Given the description of an element on the screen output the (x, y) to click on. 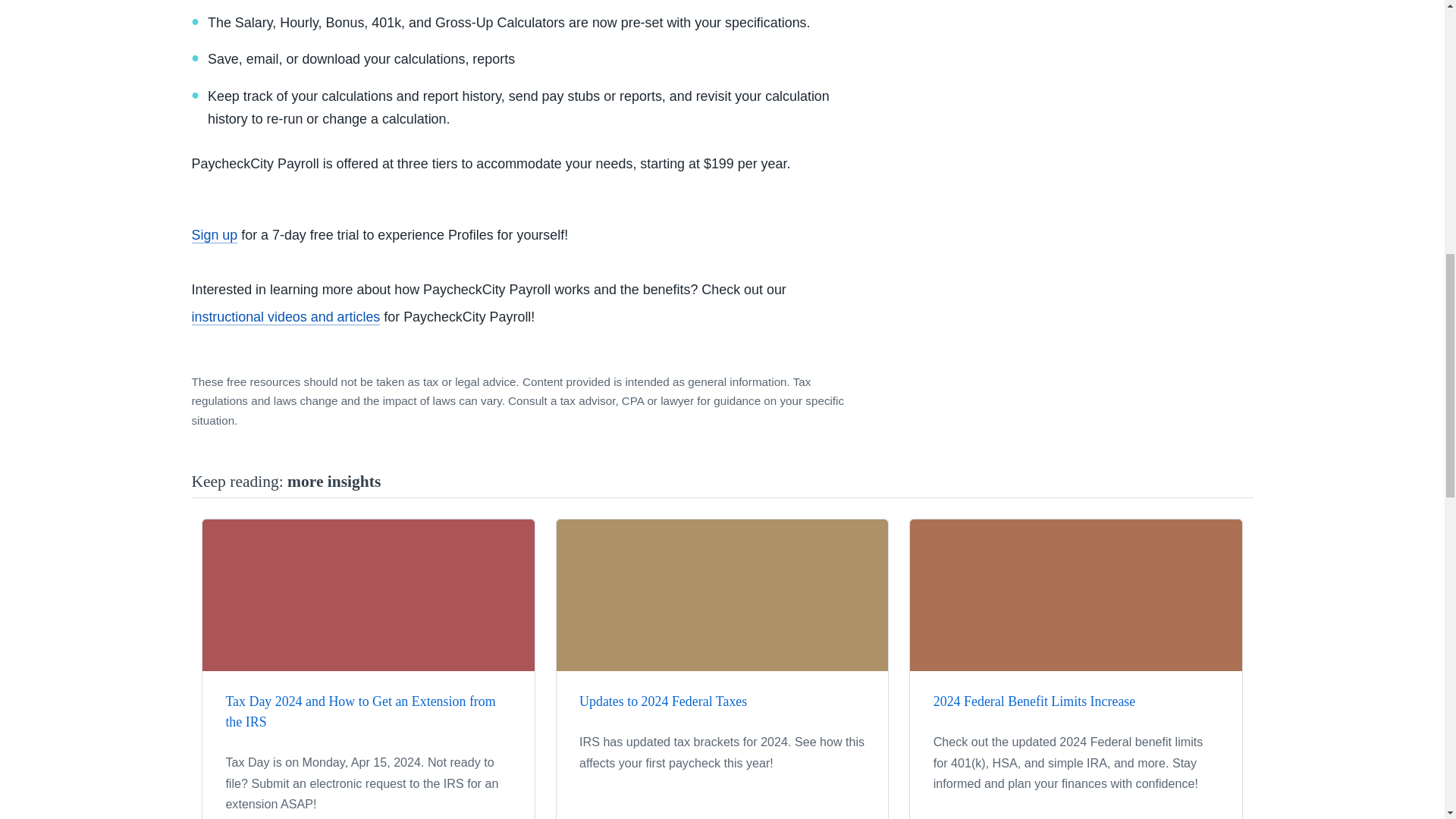
instructional videos and articles (285, 317)
Sign up (213, 235)
